Given the description of an element on the screen output the (x, y) to click on. 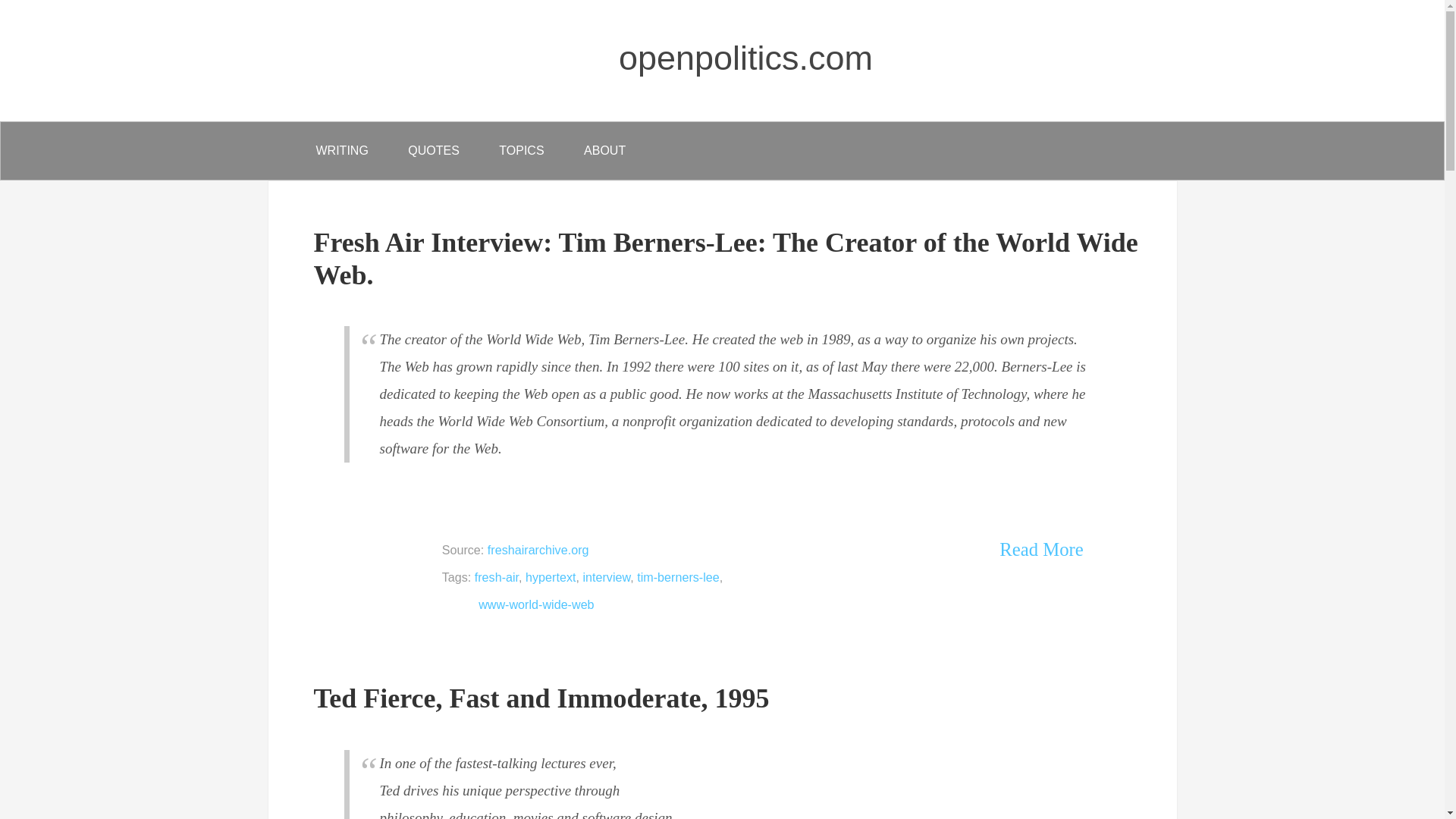
Permalink to Ted Fierce, Fast and Immoderate, 1995 (542, 698)
hypertext (550, 576)
TOPICS (521, 150)
WRITING (341, 150)
QUOTES (433, 150)
freshairarchive.org (538, 549)
fresh-air (496, 576)
ABOUT (604, 150)
Read More (1040, 549)
